Given the description of an element on the screen output the (x, y) to click on. 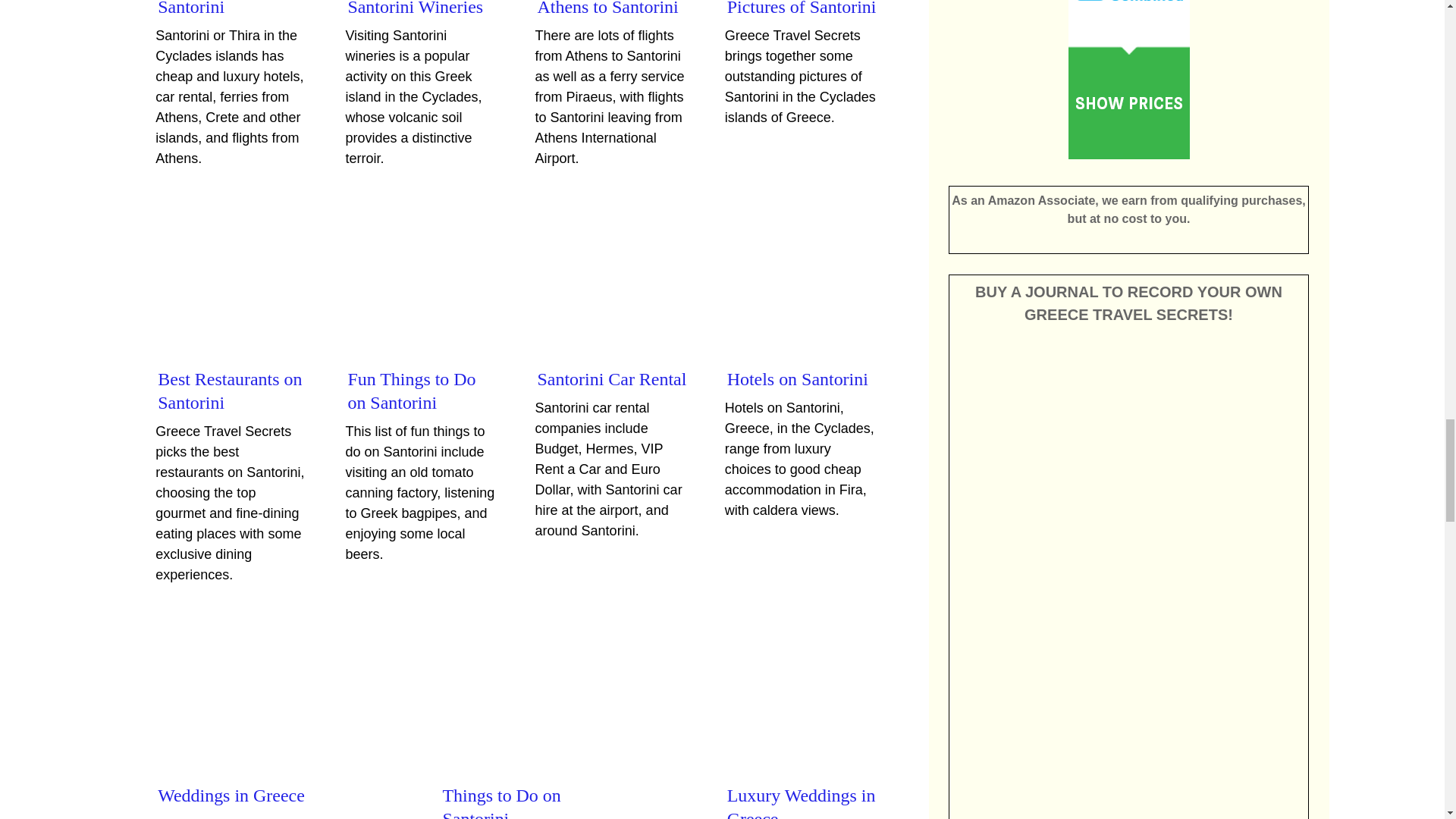
greece-travel-journal-front-cover.jpg (1128, 699)
